Given the description of an element on the screen output the (x, y) to click on. 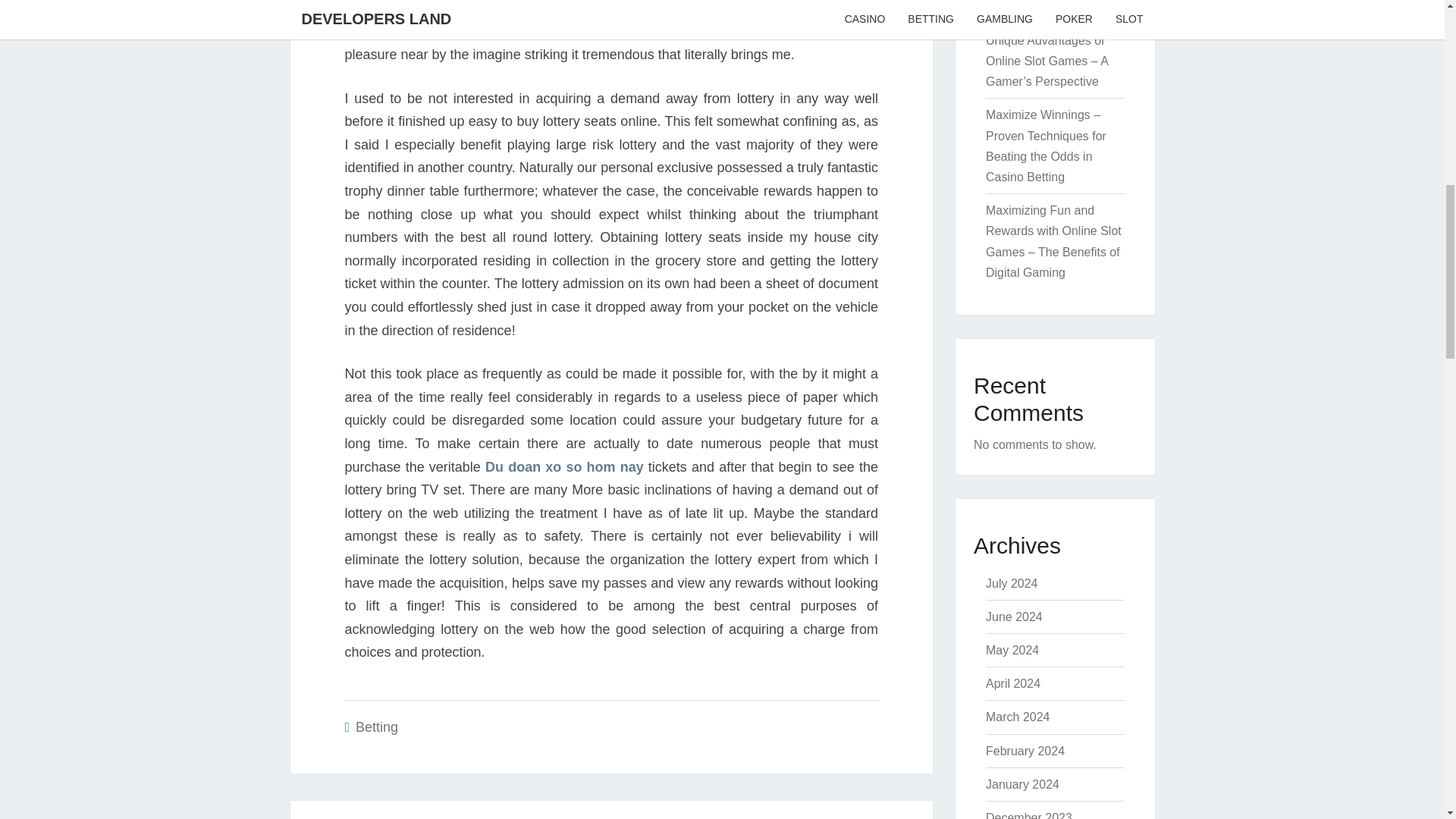
June 2024 (1013, 616)
May 2024 (1012, 649)
Du doan xo so hom nay (563, 467)
December 2023 (1028, 815)
July 2024 (1011, 583)
March 2024 (1017, 716)
April 2024 (1013, 683)
February 2024 (1024, 750)
January 2024 (1022, 784)
Betting (376, 726)
